Given the description of an element on the screen output the (x, y) to click on. 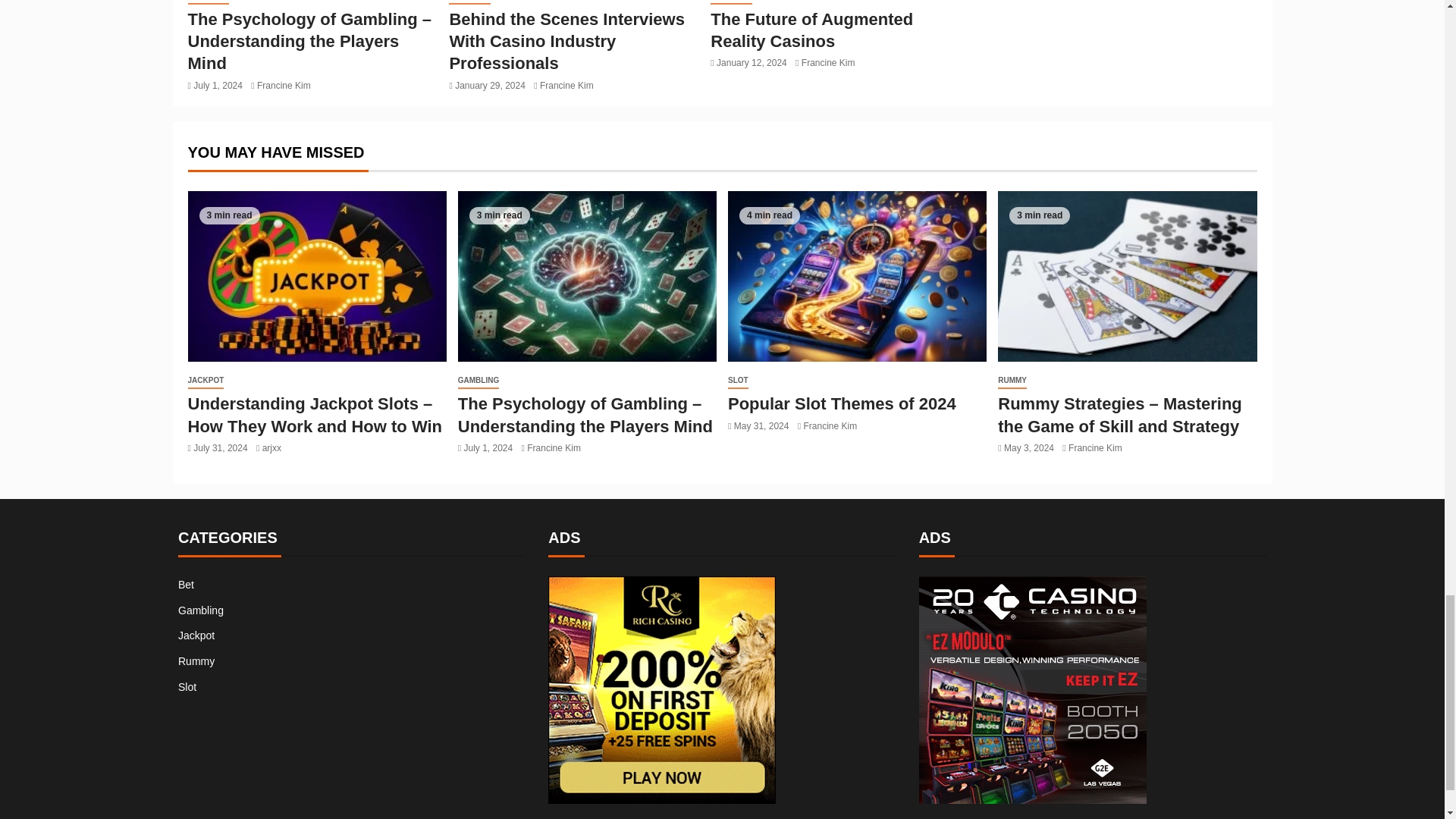
Francine Kim (829, 62)
Francine Kim (284, 85)
GAMBLING (468, 2)
GAMBLING (207, 2)
Francine Kim (567, 85)
GAMBLING (730, 2)
The Future of Augmented Reality Casinos (811, 29)
